Given the description of an element on the screen output the (x, y) to click on. 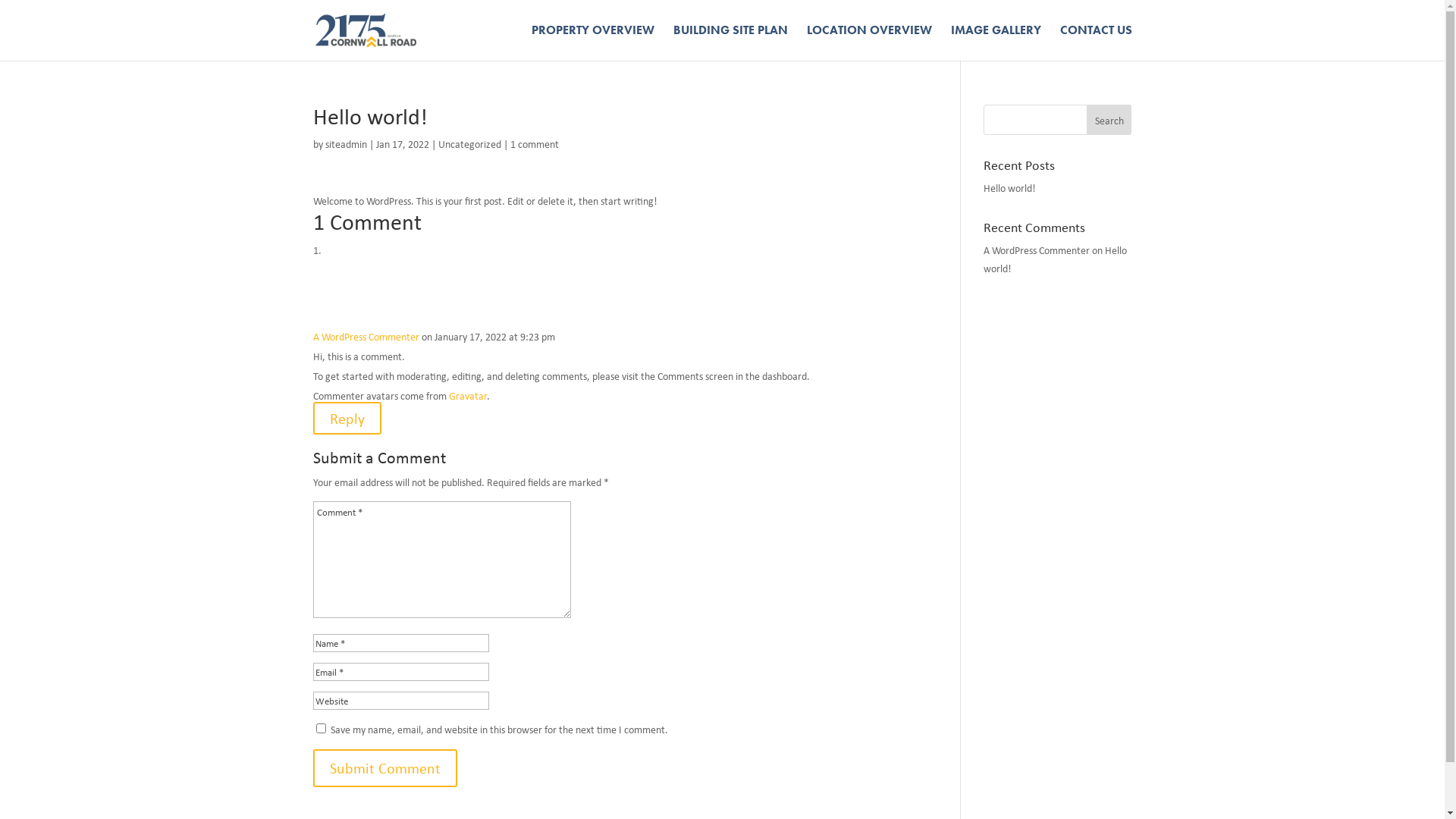
Submit Comment Element type: text (384, 768)
siteadmin Element type: text (345, 143)
A WordPress Commenter Element type: text (1036, 249)
Uncategorized Element type: text (469, 143)
BUILDING SITE PLAN Element type: text (730, 42)
PROPERTY OVERVIEW Element type: text (591, 42)
CONTACT US Element type: text (1096, 42)
Reply Element type: text (346, 417)
Hello world! Element type: text (1009, 187)
A WordPress Commenter Element type: text (365, 336)
Hello world! Element type: text (1054, 258)
IMAGE GALLERY Element type: text (995, 42)
Gravatar Element type: text (467, 395)
Search Element type: text (1109, 119)
1 comment Element type: text (533, 143)
LOCATION OVERVIEW Element type: text (868, 42)
